Given the description of an element on the screen output the (x, y) to click on. 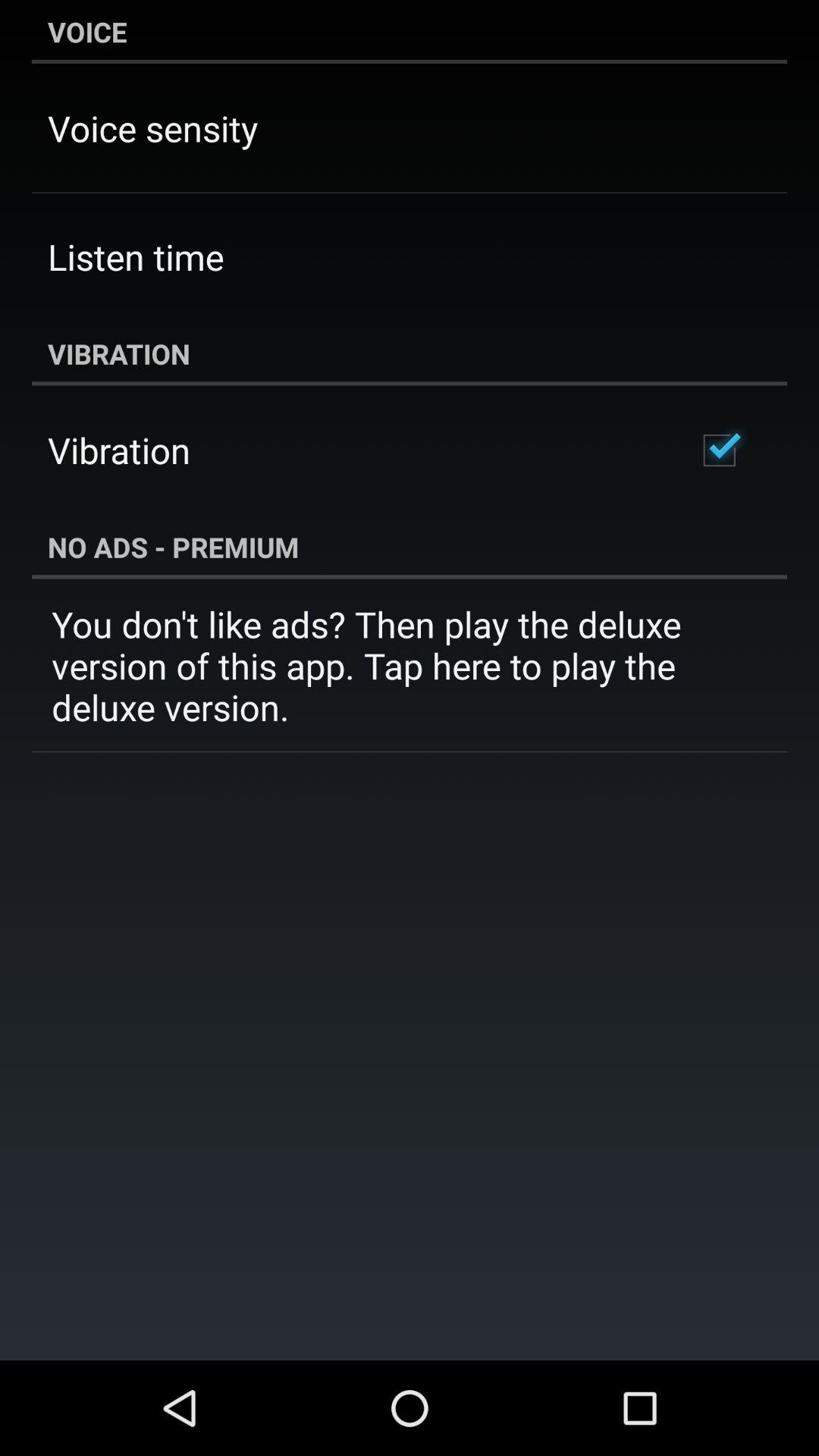
press item above listen time icon (152, 128)
